Given the description of an element on the screen output the (x, y) to click on. 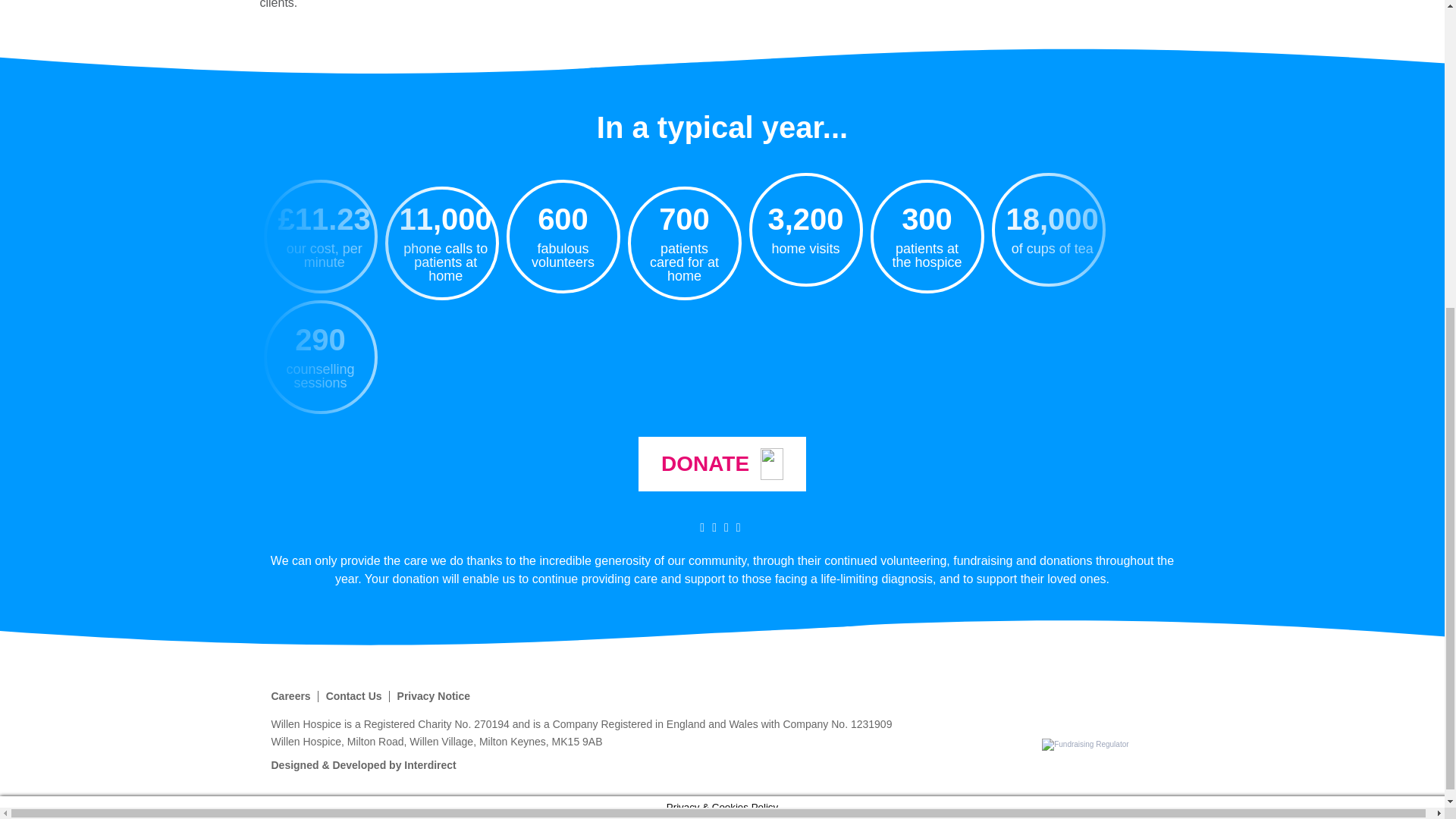
Donate (722, 463)
